Given the description of an element on the screen output the (x, y) to click on. 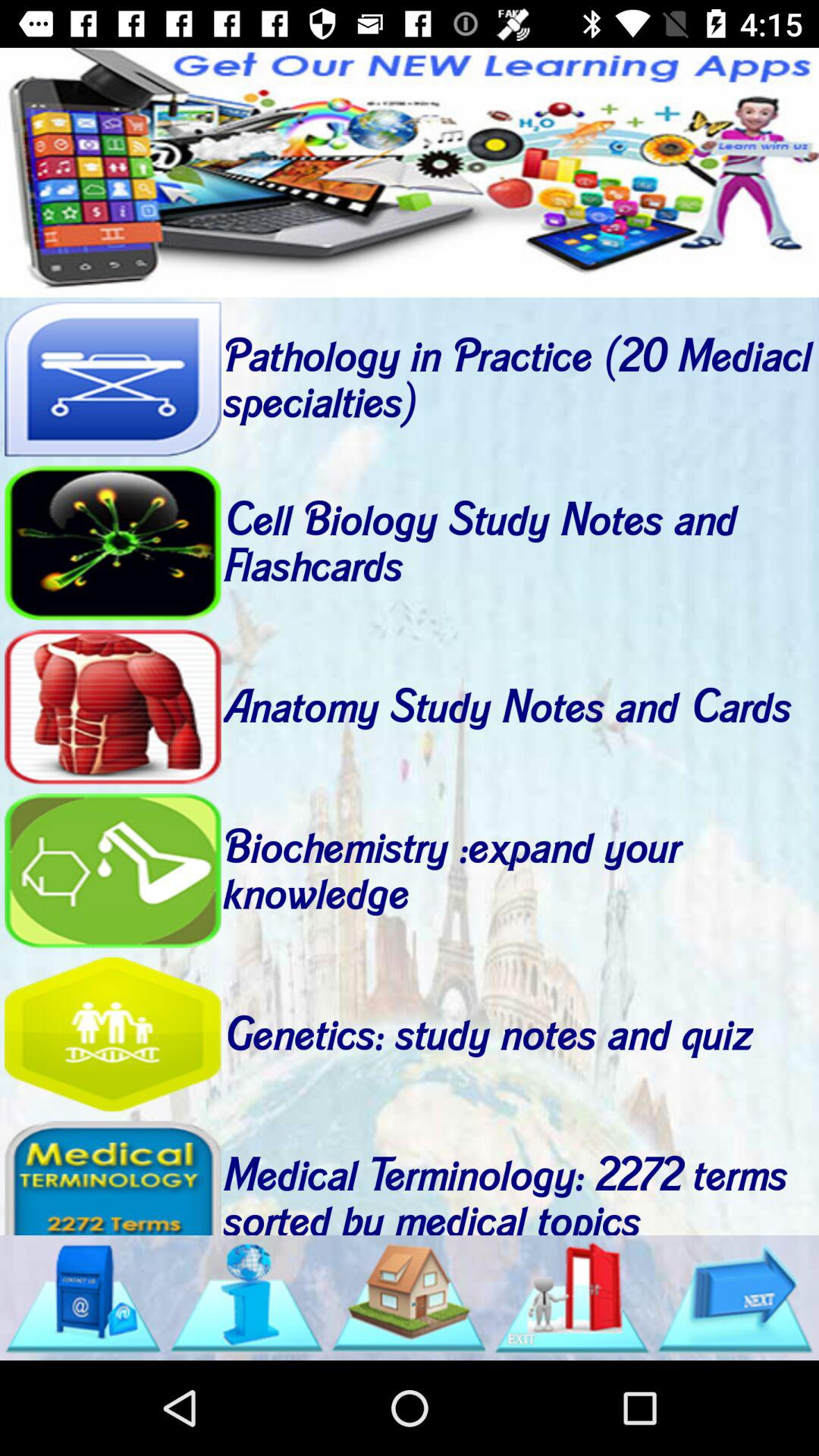
go to a different app (409, 172)
